Given the description of an element on the screen output the (x, y) to click on. 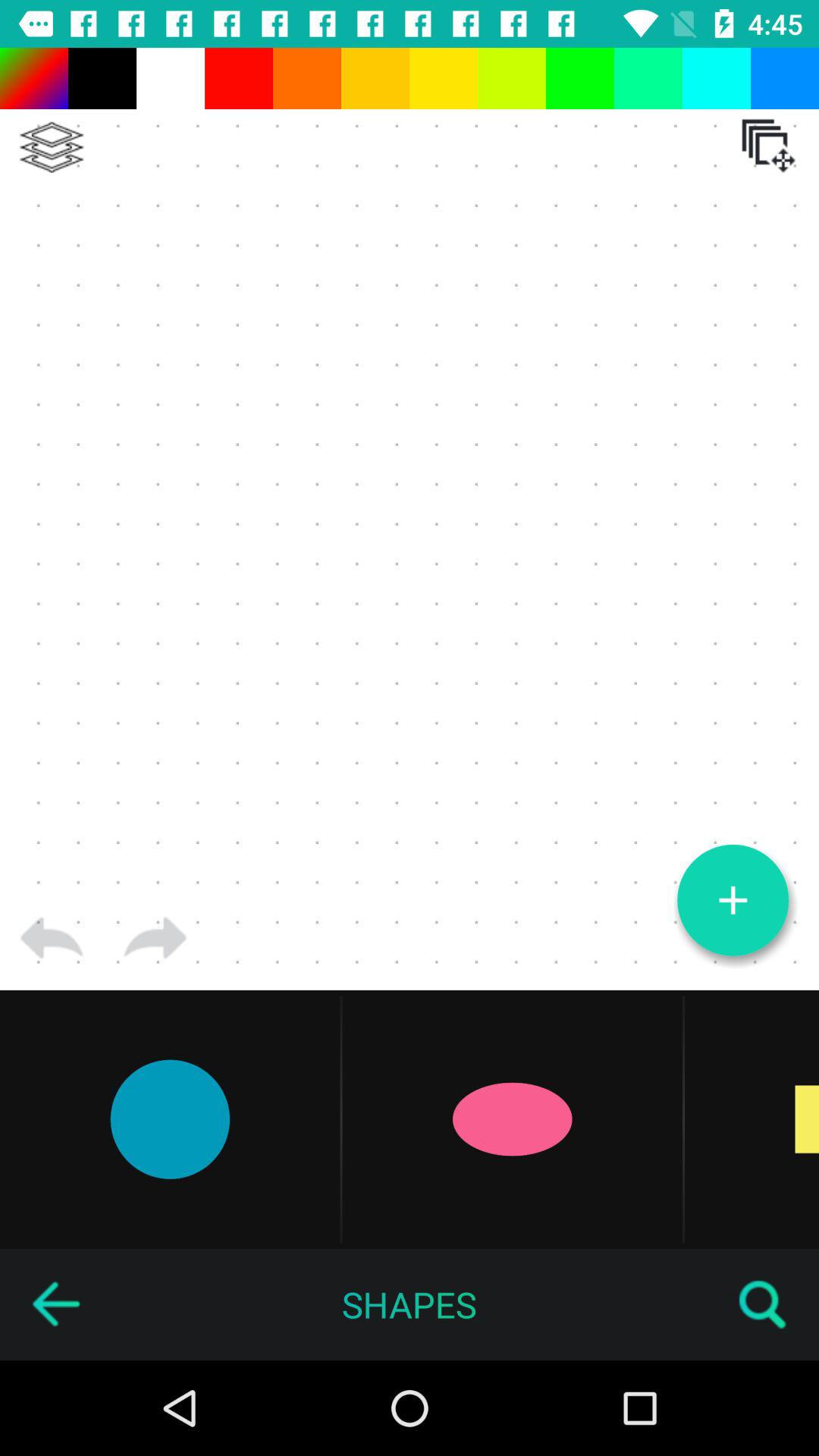
insert (733, 900)
